Given the description of an element on the screen output the (x, y) to click on. 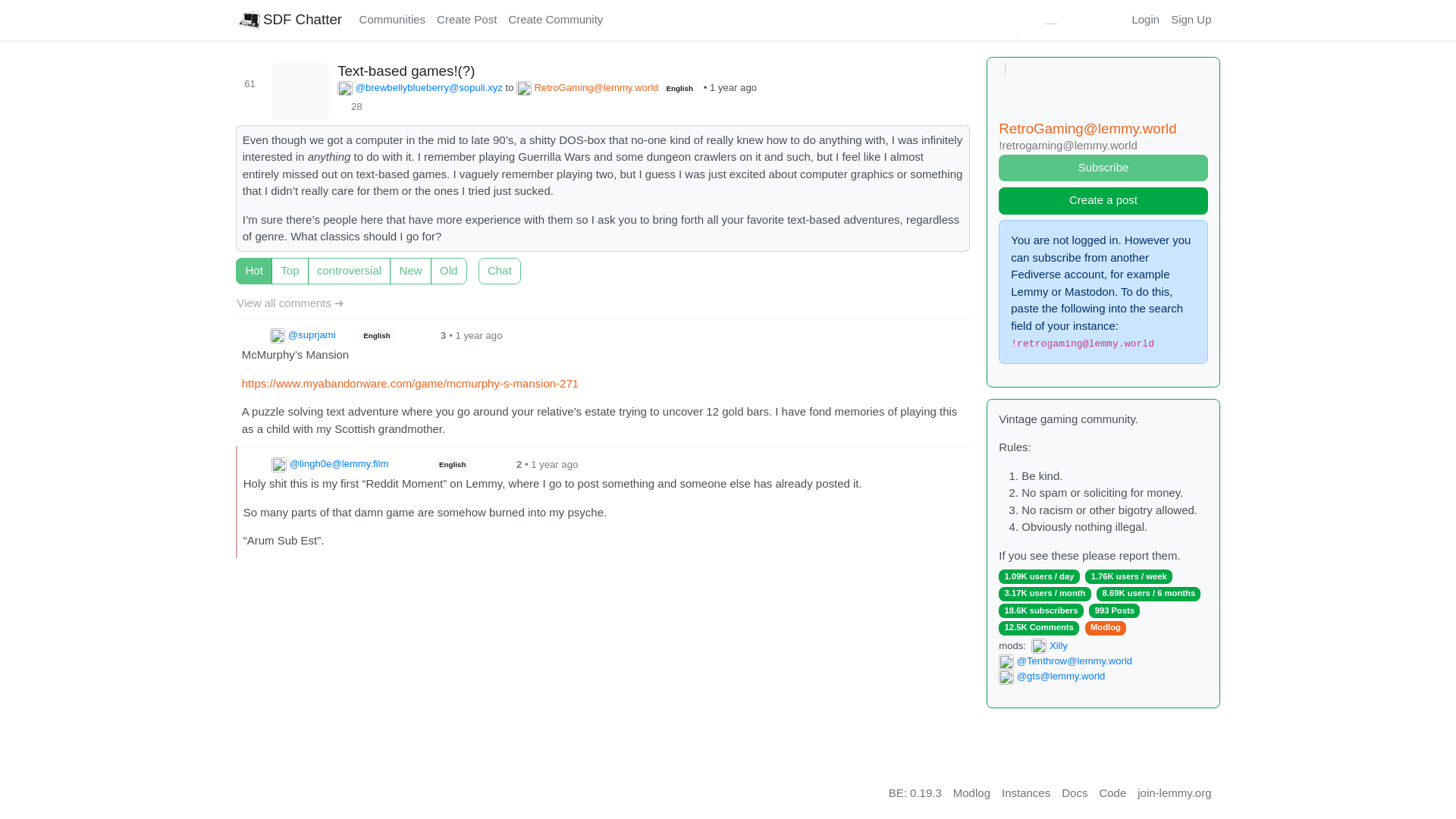
Hot (240, 262)
SDF Chatter (290, 19)
Controversial (240, 262)
Create Post (466, 20)
28 (352, 106)
A Lemmy instance hosted by the SDF.ORG (290, 19)
Sign Up (1191, 20)
Create Community (555, 20)
Subscribe (1103, 167)
1 (483, 262)
Comments (405, 69)
Support Lemmy (619, 20)
Communities (391, 20)
Comments (300, 90)
New (240, 262)
